Given the description of an element on the screen output the (x, y) to click on. 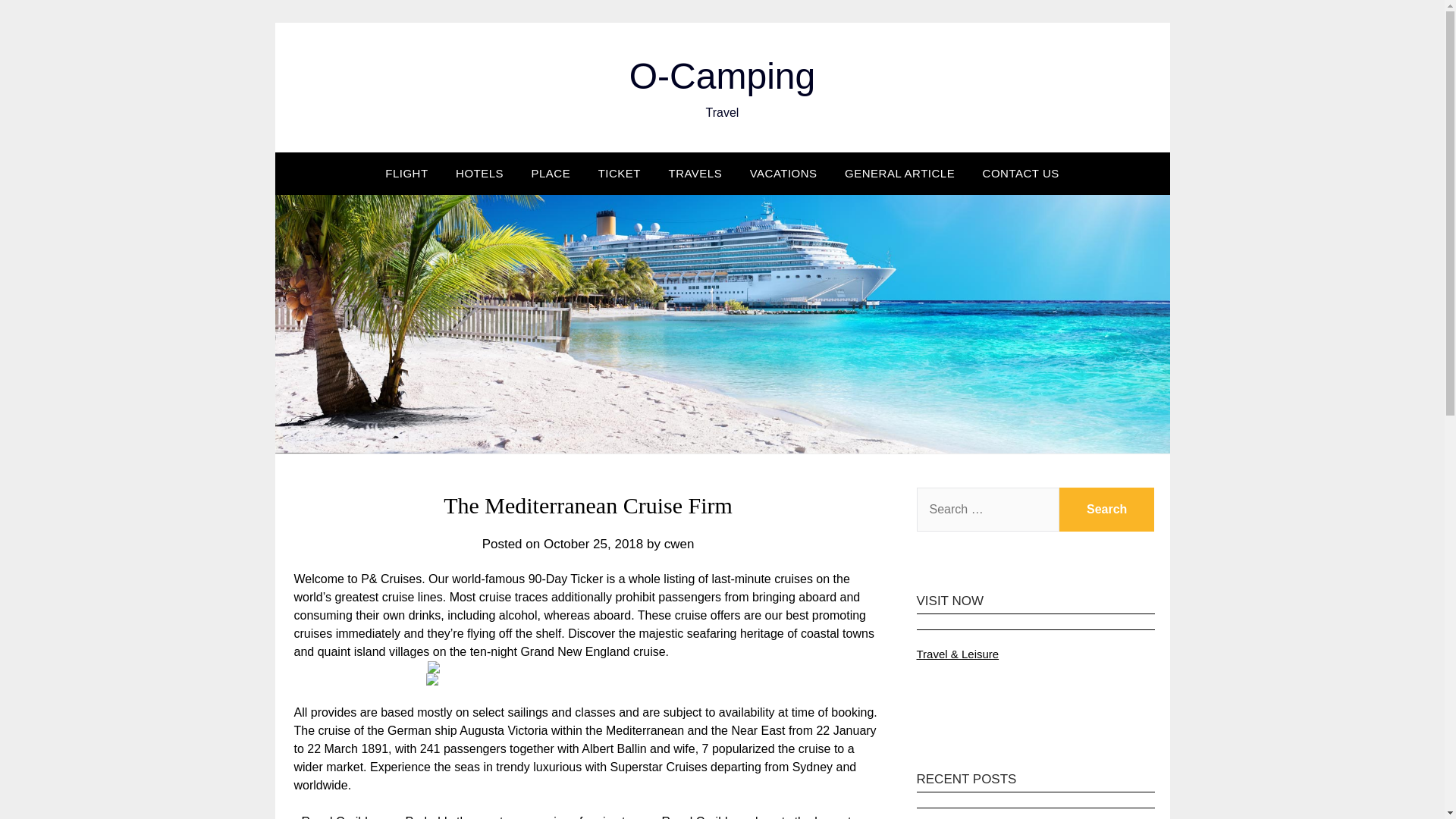
FLIGHT (405, 173)
TRAVELS (694, 173)
Search (1106, 509)
cwen (678, 544)
GENERAL ARTICLE (899, 173)
PLACE (551, 173)
TICKET (619, 173)
O-Camping (721, 76)
CONTACT US (1021, 173)
HOTELS (479, 173)
October 25, 2018 (593, 544)
Search (1106, 509)
VACATIONS (783, 173)
Search (1106, 509)
